Given the description of an element on the screen output the (x, y) to click on. 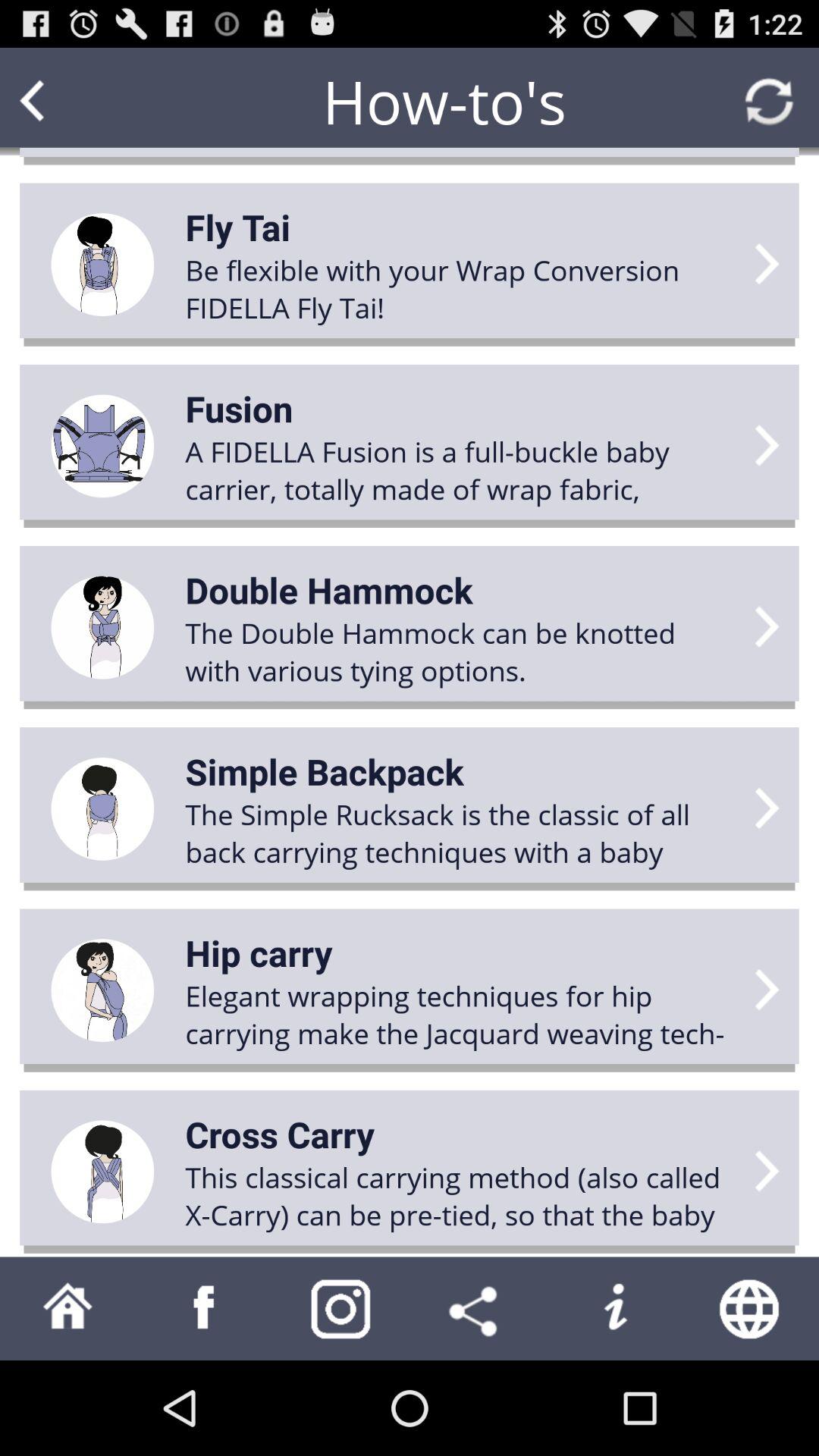
select icon above this classical carrying app (279, 1134)
